Given the description of an element on the screen output the (x, y) to click on. 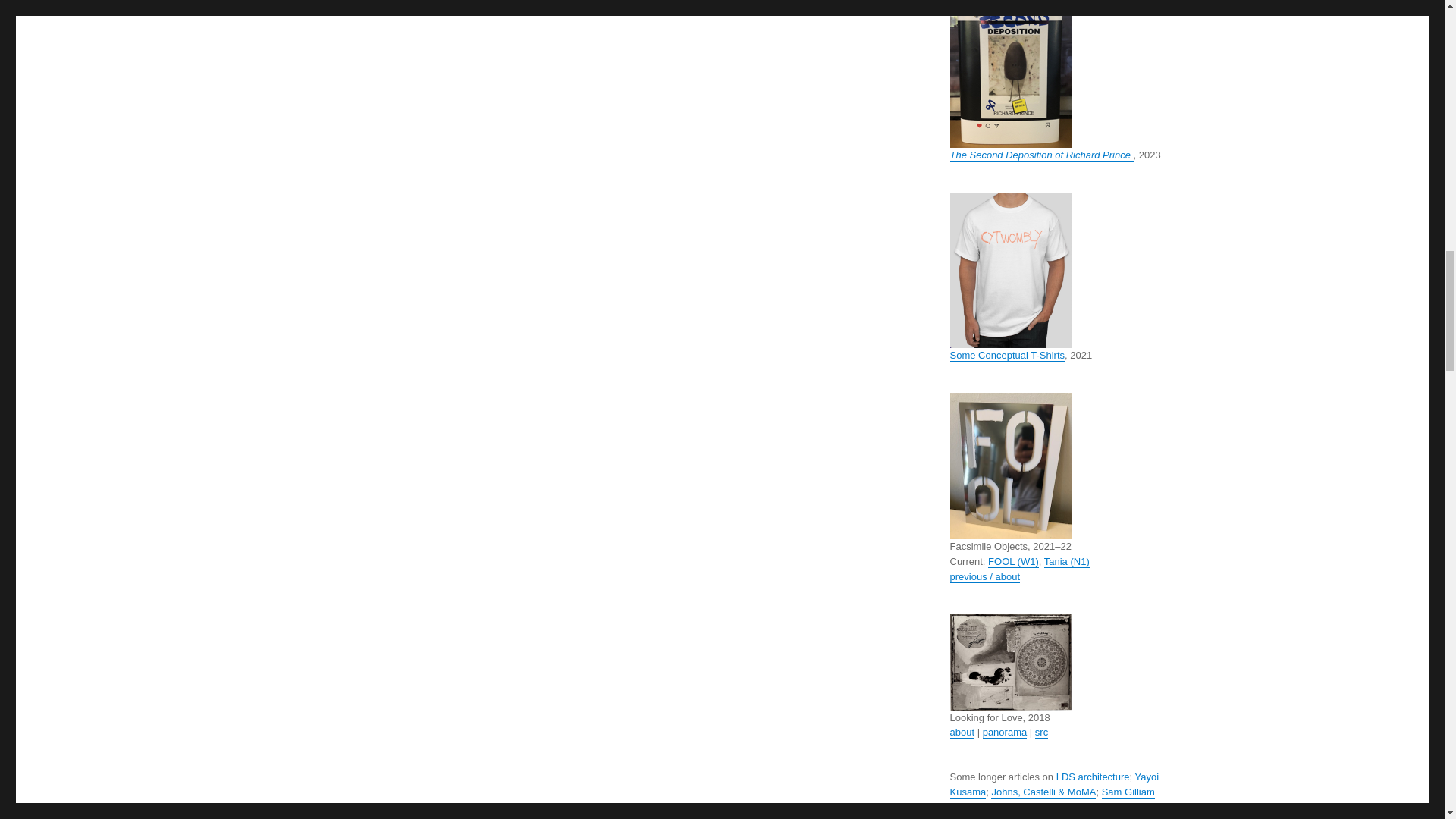
src (1041, 731)
about (961, 731)
The Second Deposition of Richard Prince (1040, 154)
Yayoi Kusama (1053, 784)
Sam Gilliam (1128, 791)
Some Conceptual T-Shirts (1006, 355)
LDS architecture (1093, 776)
panorama (1004, 731)
